Given the description of an element on the screen output the (x, y) to click on. 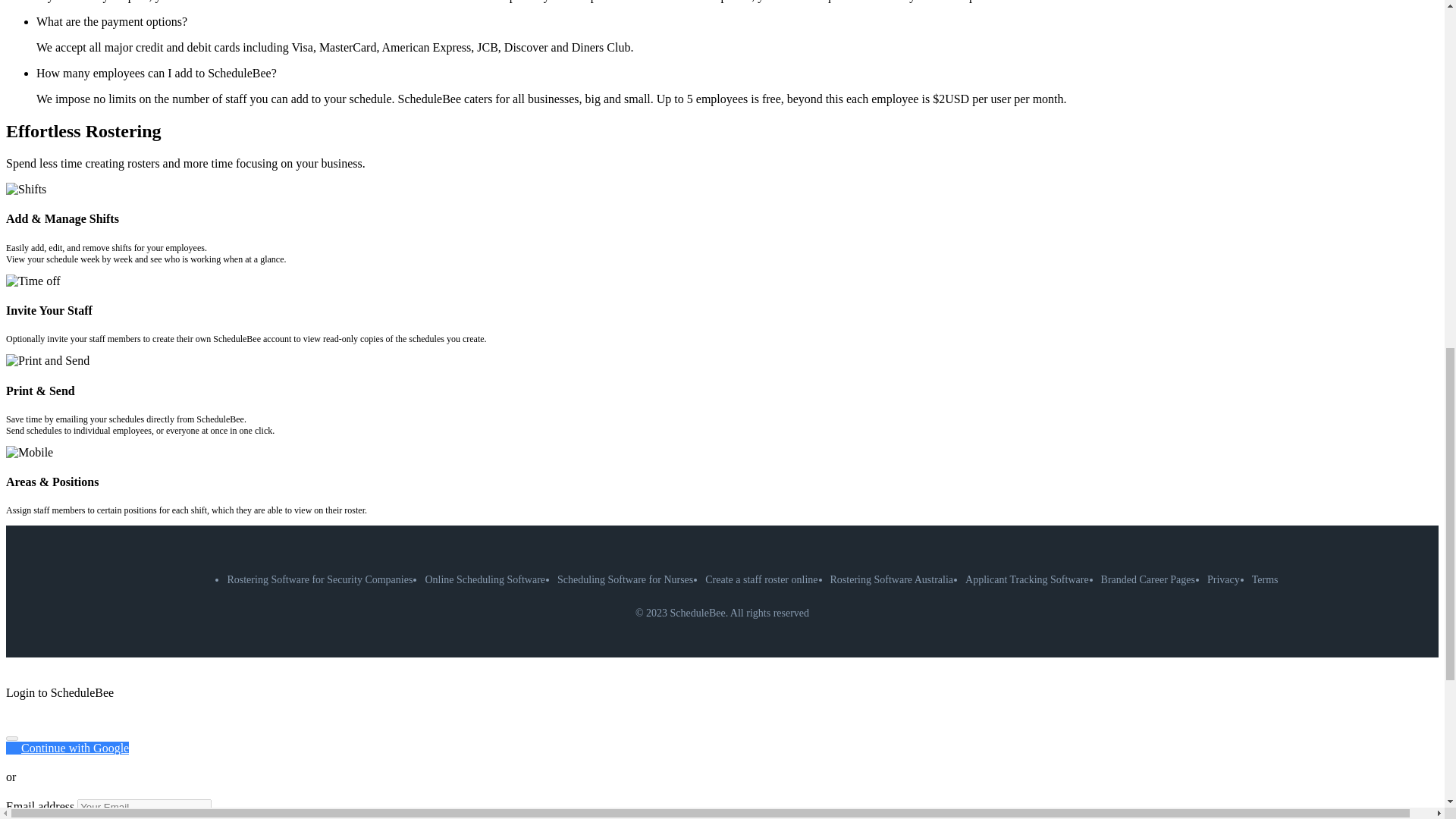
Branded Career Pages (1147, 579)
Scheduling Software for Nurses (625, 579)
Continue with Google (67, 748)
Terms (1265, 579)
Create a staff roster online (760, 579)
Rostering Software Australia (891, 579)
Rostering Software for Security Companies (319, 579)
Privacy (1223, 579)
Online Scheduling Software (484, 579)
Applicant Tracking Software (1027, 579)
